Given the description of an element on the screen output the (x, y) to click on. 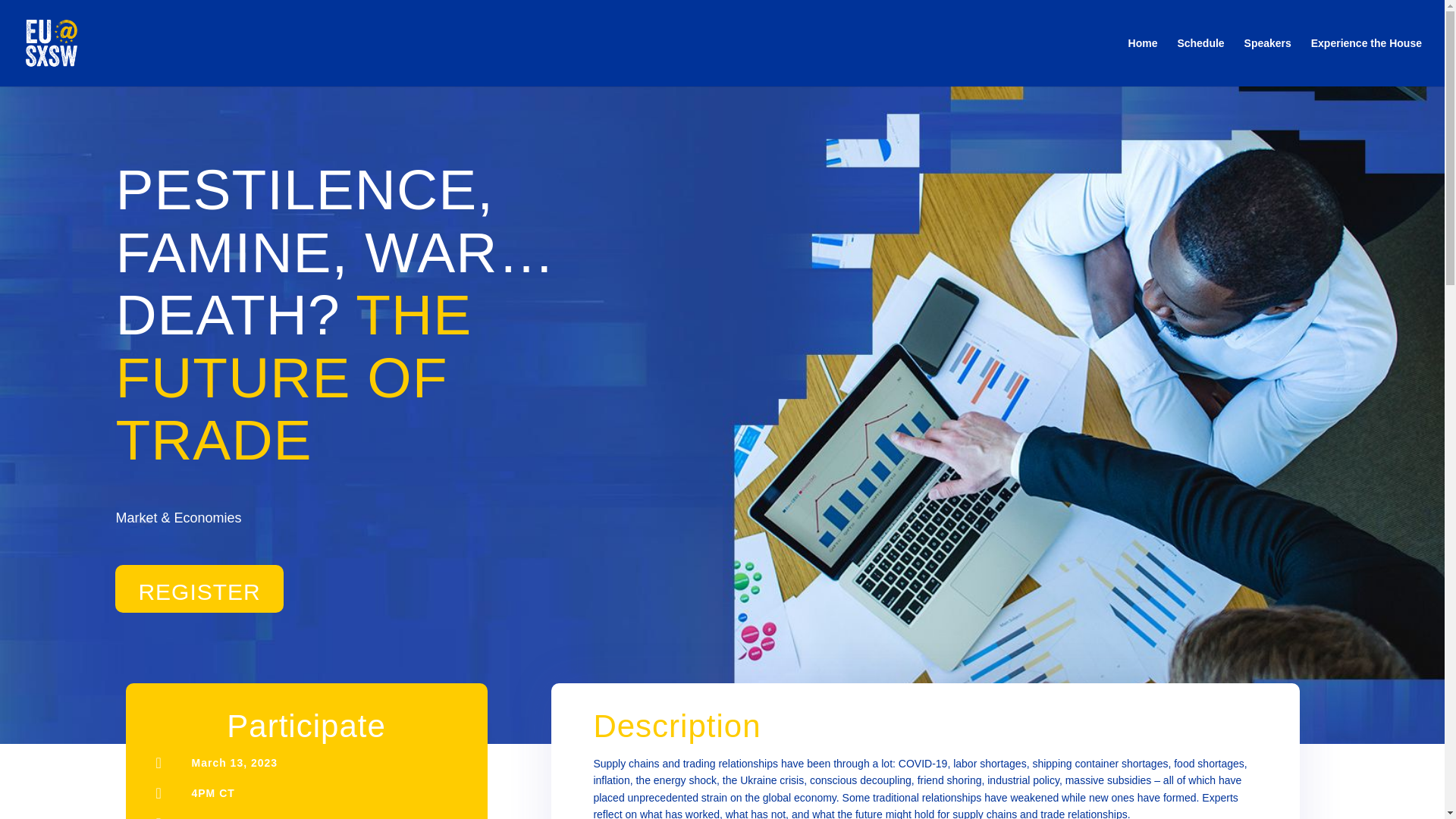
Experience the House (1366, 61)
Schedule (1200, 61)
REGISTER (198, 588)
Speakers (1267, 61)
Description (676, 725)
Hilton Austin, Salon D (254, 818)
